Given the description of an element on the screen output the (x, y) to click on. 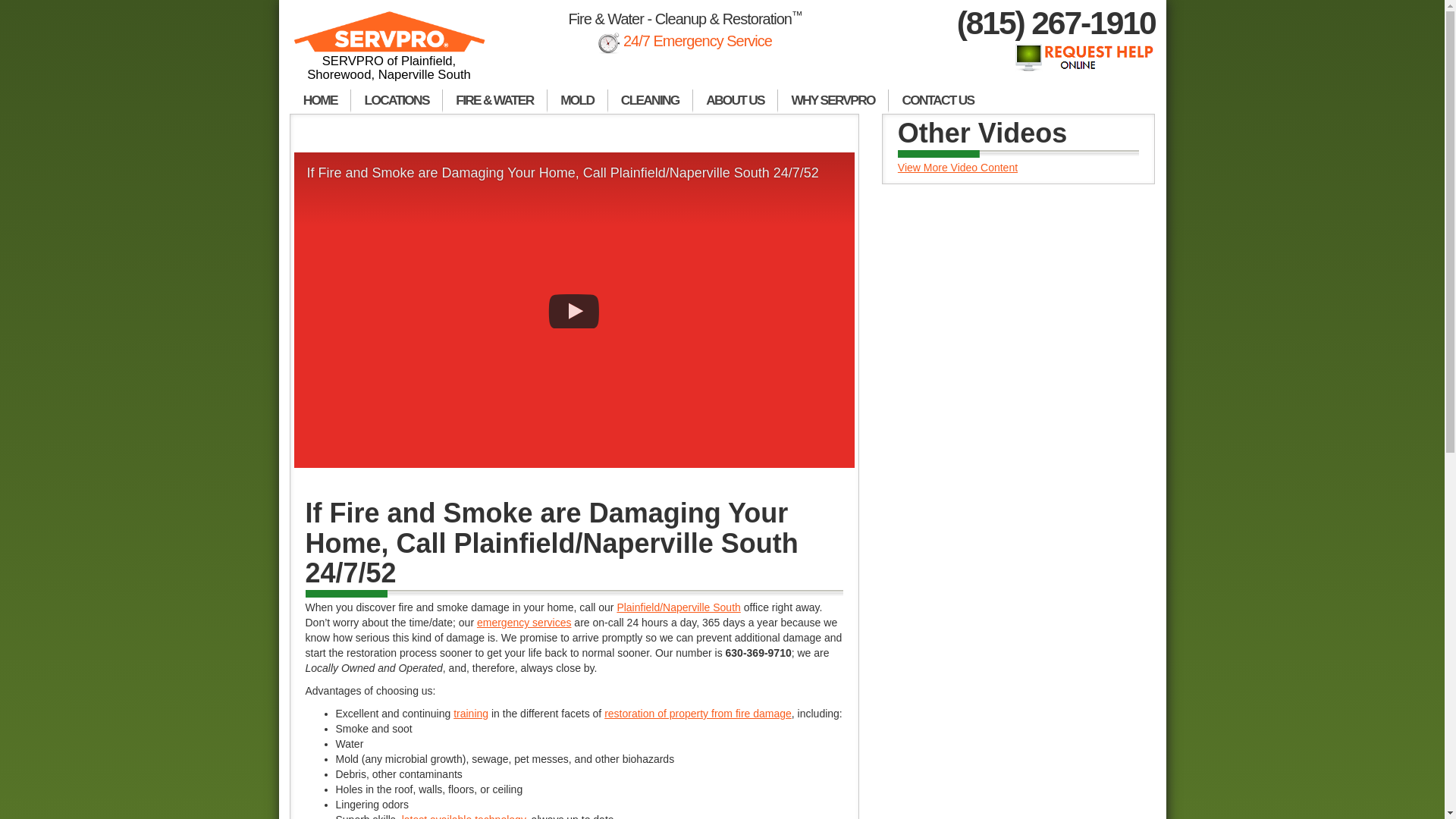
HOME (319, 101)
LOCATIONS (396, 101)
CLEANING (650, 101)
MOLD (577, 101)
SERVPRO of Plainfield, Shorewood, Naperville South (389, 53)
ABOUT US (735, 101)
